Given the description of an element on the screen output the (x, y) to click on. 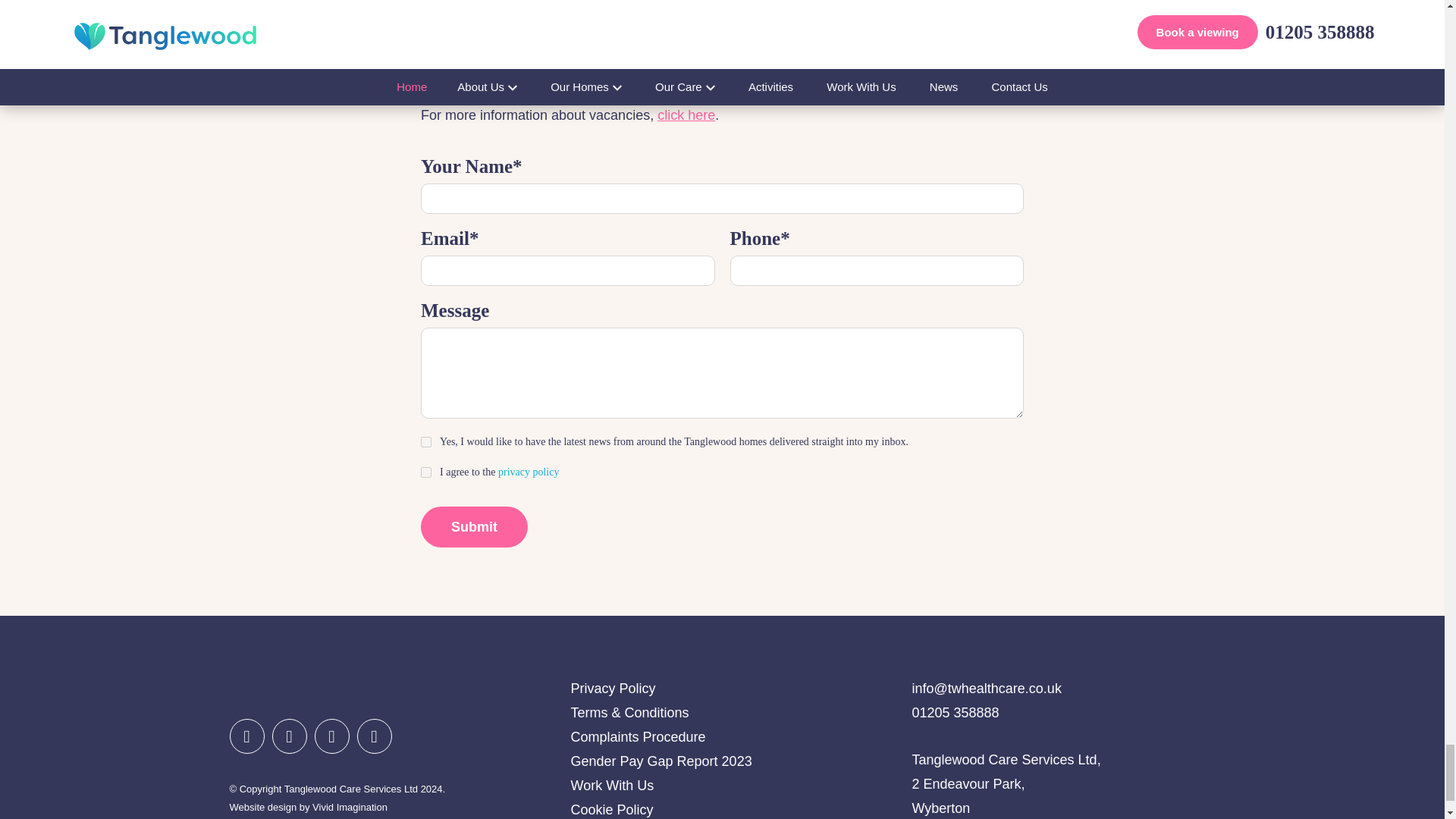
1 (425, 471)
Submit (473, 526)
